Given the description of an element on the screen output the (x, y) to click on. 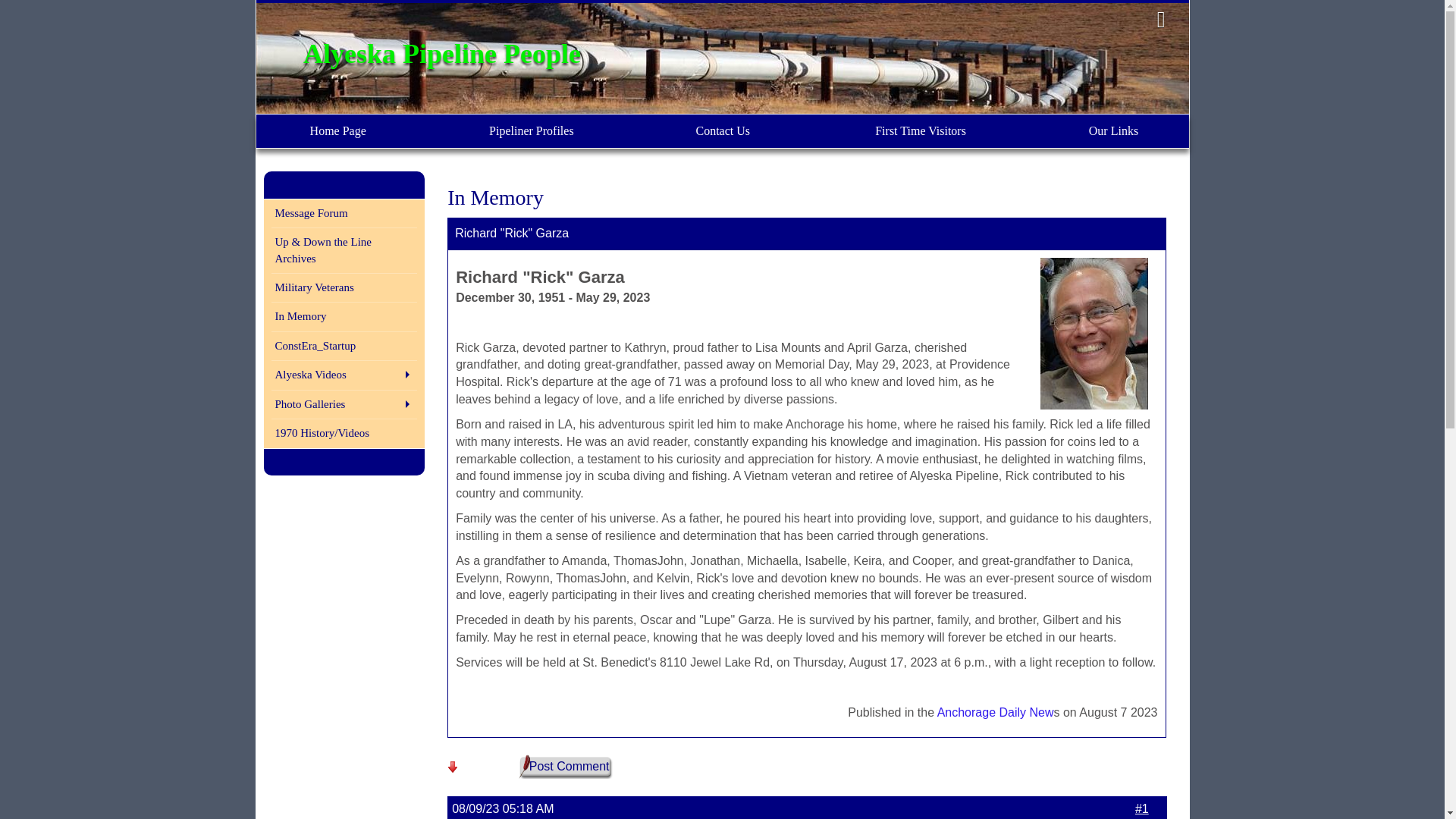
In Memory (343, 316)
Pipeliner Profiles (531, 131)
Military Veterans (343, 287)
Photo Galleries (343, 403)
Contact Us (723, 131)
Our Links (1113, 131)
Message Forum (343, 213)
Home Page (338, 131)
Alyeska Videos (343, 374)
Pipeliner Login (1160, 20)
